Given the description of an element on the screen output the (x, y) to click on. 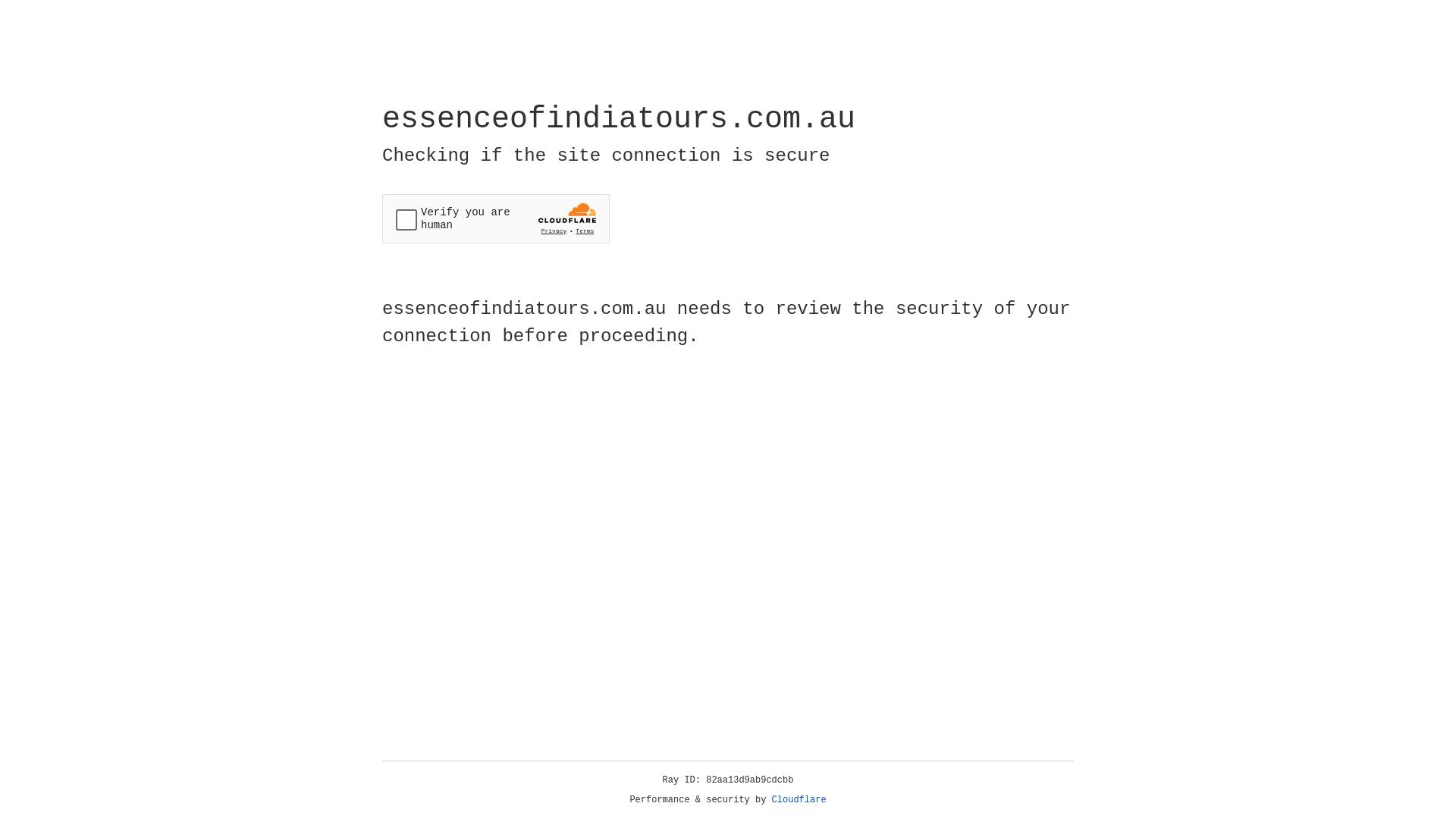
Widget containing a Cloudflare security challenge Element type: hover (495, 218)
Cloudflare Element type: text (798, 799)
